Given the description of an element on the screen output the (x, y) to click on. 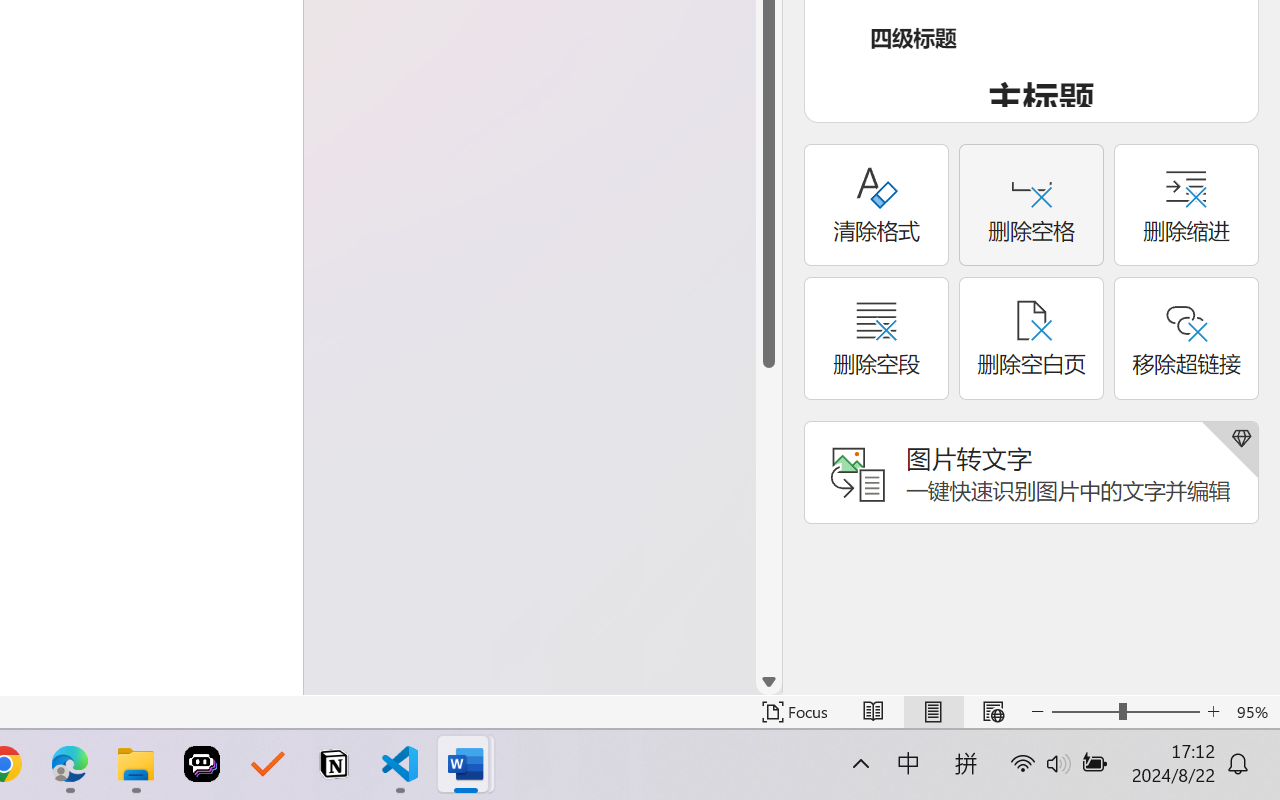
Page down (769, 518)
Line down (769, 681)
